Given the description of an element on the screen output the (x, y) to click on. 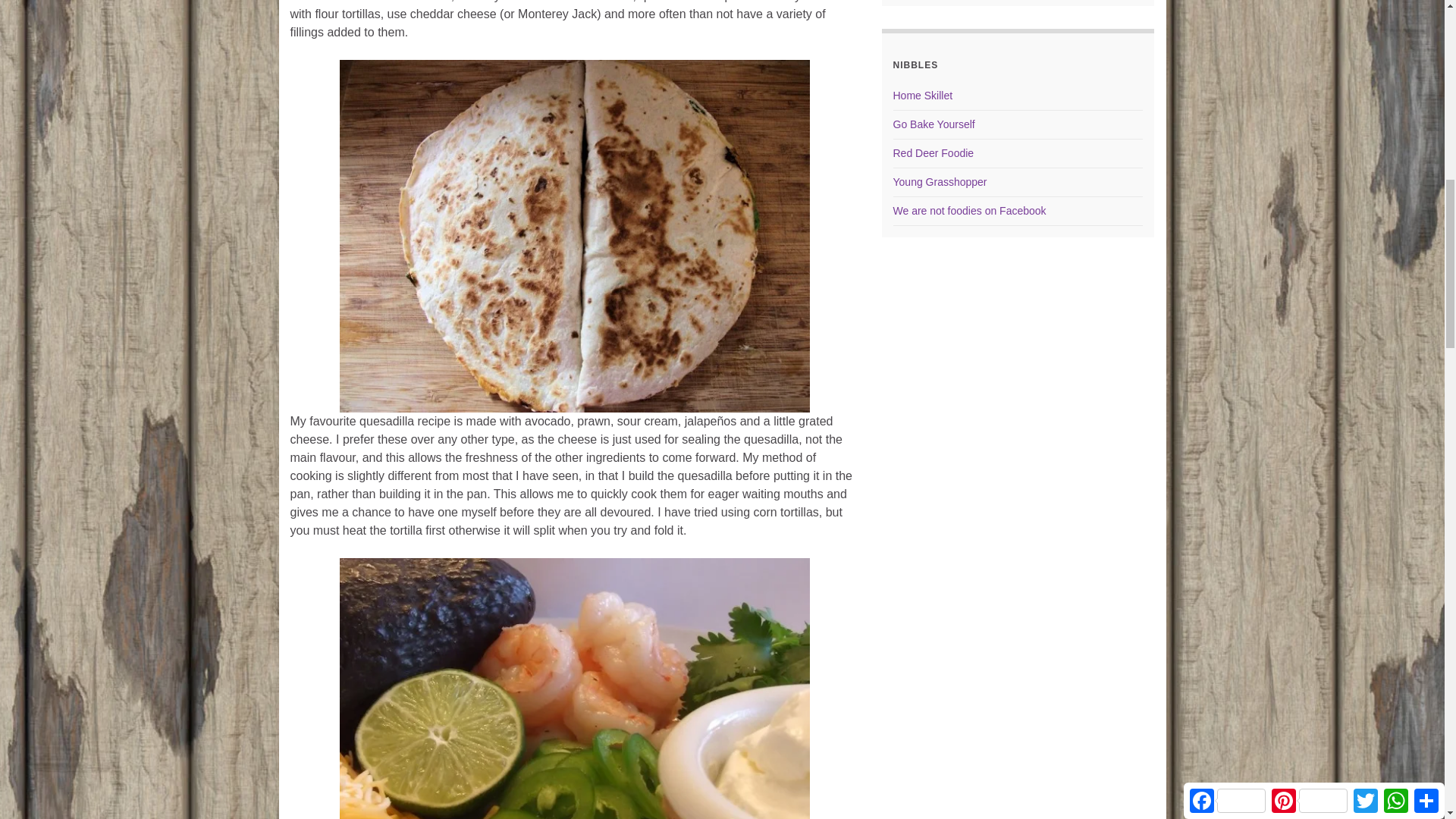
Quesadilla Ingredients (574, 688)
